Given the description of an element on the screen output the (x, y) to click on. 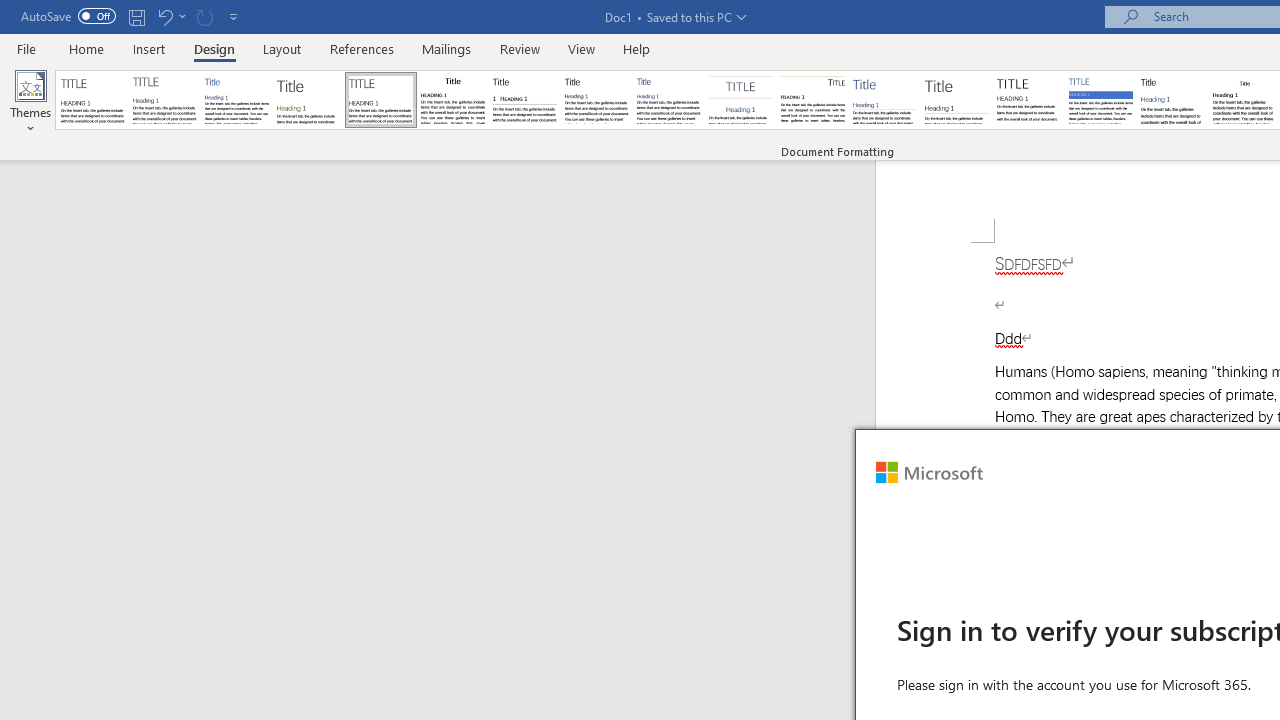
Lines (Stylish) (957, 100)
Undo Apply Quick Style Set (170, 15)
Lines (Distinctive) (812, 100)
Shaded (1100, 100)
Minimalist (1028, 100)
Black & White (Word 2013) (596, 100)
